Given the description of an element on the screen output the (x, y) to click on. 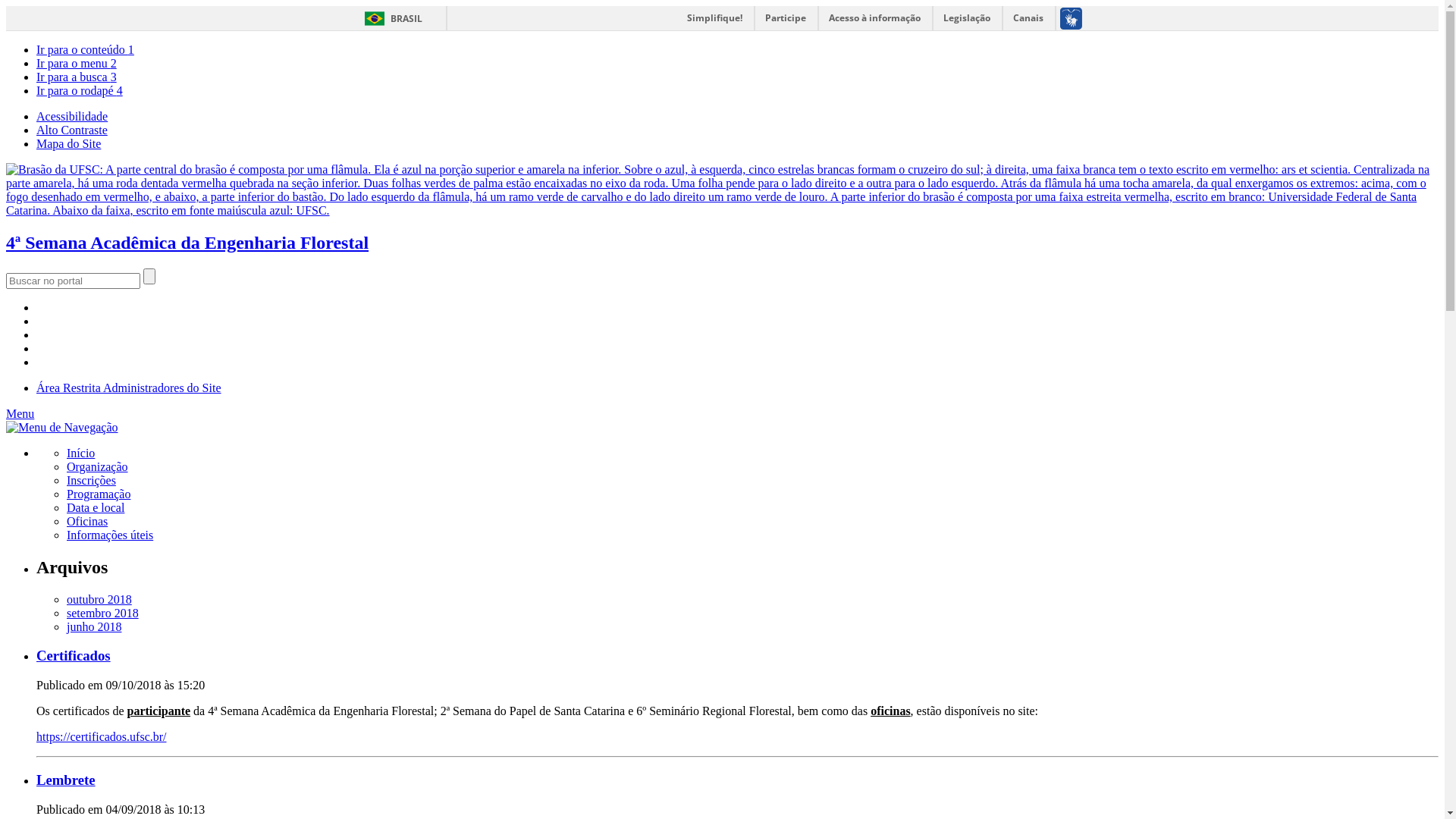
BRASIL Element type: text (389, 18)
Alto Contraste Element type: text (71, 129)
Simplifique! Element type: text (714, 17)
Menu Element type: text (20, 413)
Ir para a busca 3 Element type: text (76, 76)
Data e local Element type: text (95, 507)
Canais Element type: text (1028, 17)
junho 2018 Element type: text (93, 626)
https://certificados.ufsc.br/ Element type: text (101, 736)
setembro 2018 Element type: text (102, 612)
Ir para o menu 2 Element type: text (76, 62)
Lembrete Element type: text (737, 779)
Certificados Element type: text (737, 655)
Oficinas Element type: text (86, 520)
Acessibilidade Element type: text (71, 115)
Participe Element type: text (786, 17)
Mapa do Site Element type: text (68, 143)
outubro 2018 Element type: text (98, 599)
Administradores do Site Element type: text (162, 387)
